Given the description of an element on the screen output the (x, y) to click on. 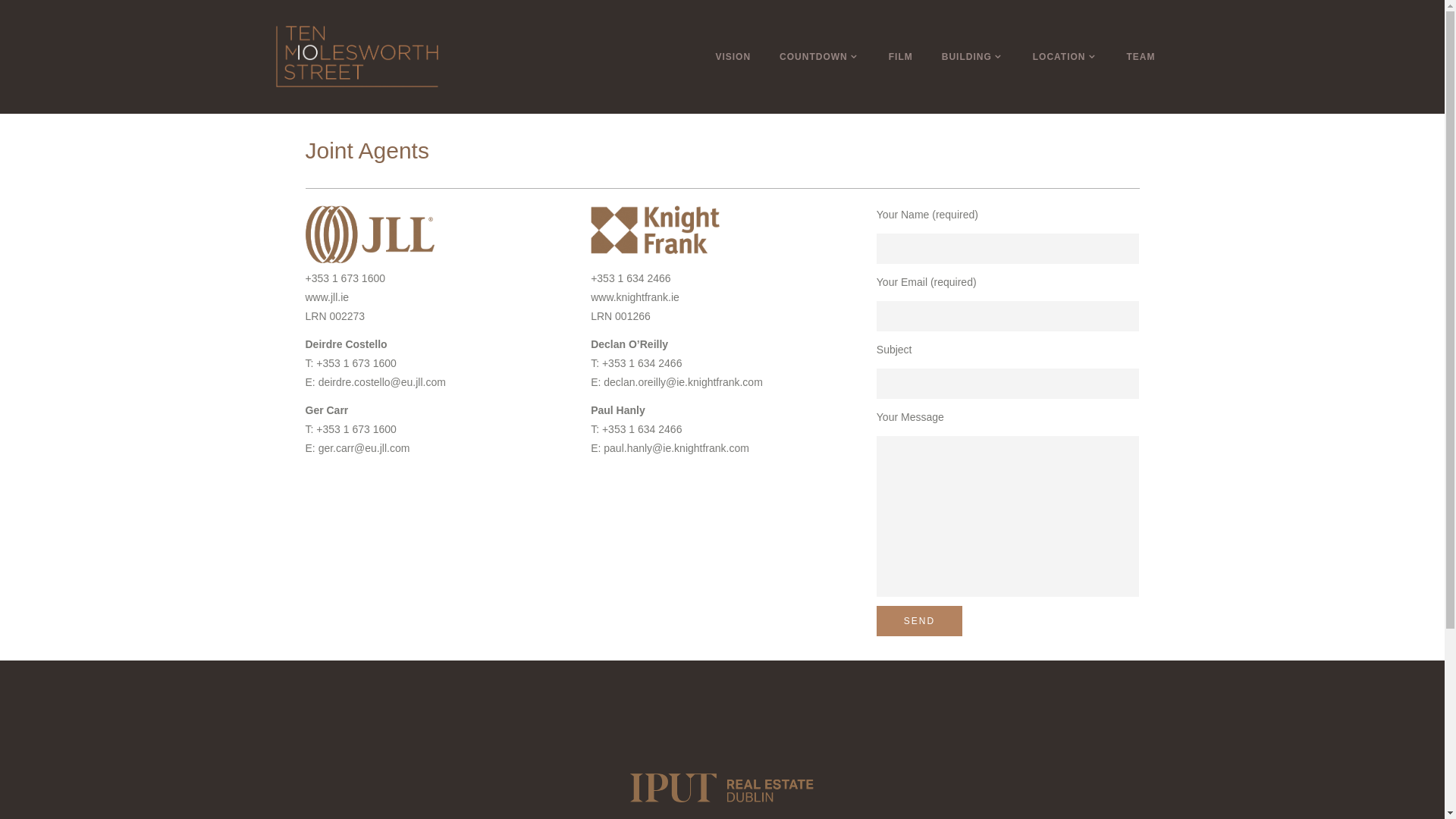
LOCATION Element type: text (1065, 56)
www.knightfrank.ie Element type: text (634, 297)
Send Element type: text (919, 620)
FILM Element type: text (900, 56)
COUNTDOWN Element type: text (819, 56)
declan.oreilly@ie.knightfrank.com Element type: text (682, 382)
ger.carr@eu.jll.com Element type: text (364, 448)
BUILDING Element type: text (972, 56)
deirdre.costello@eu.jll.com Element type: text (381, 382)
paul.hanly@ie.knightfrank.com Element type: text (676, 448)
VISION Element type: text (732, 56)
TEAM Element type: text (1140, 56)
